Given the description of an element on the screen output the (x, y) to click on. 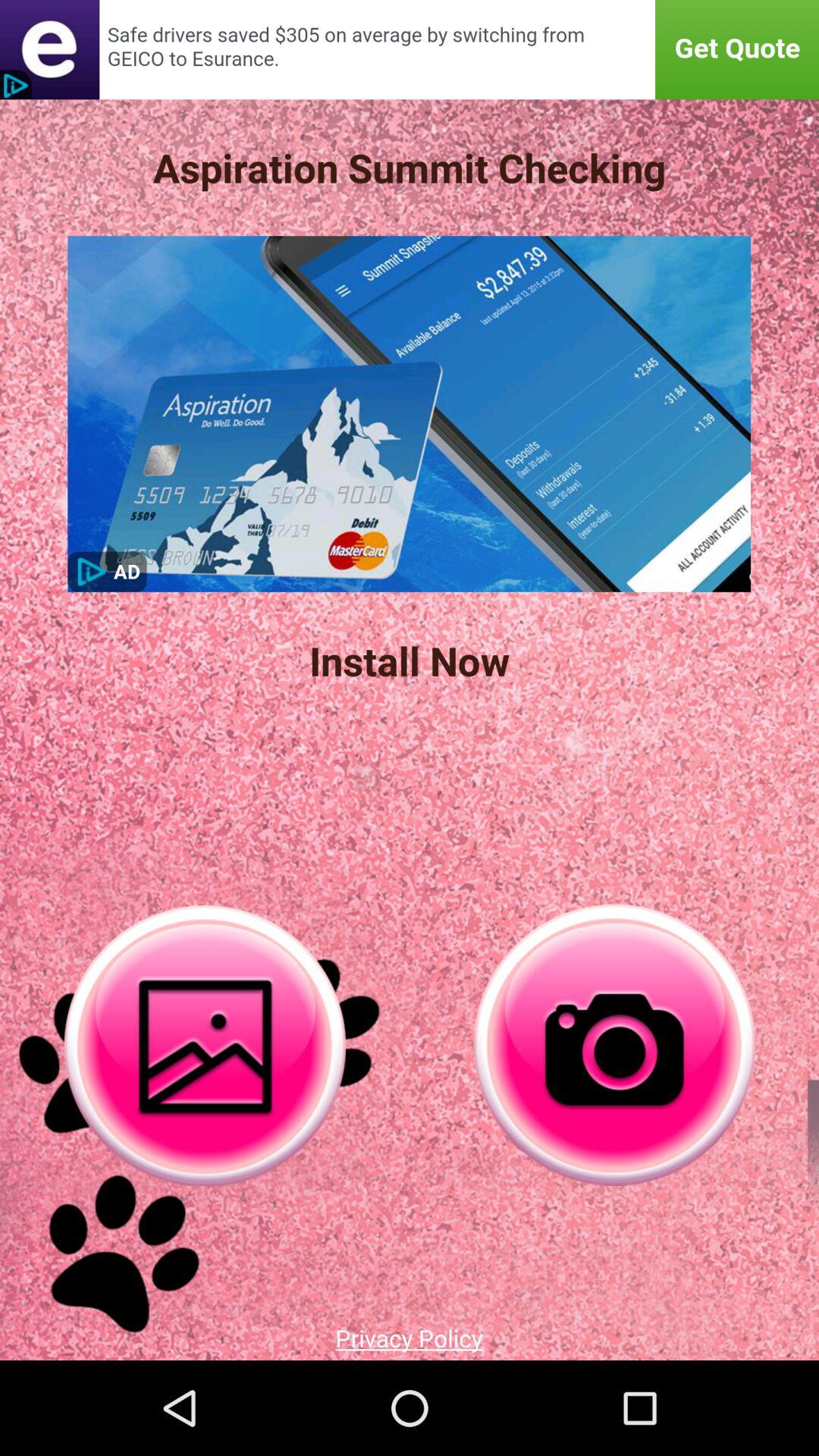
camera (614, 1044)
